Given the description of an element on the screen output the (x, y) to click on. 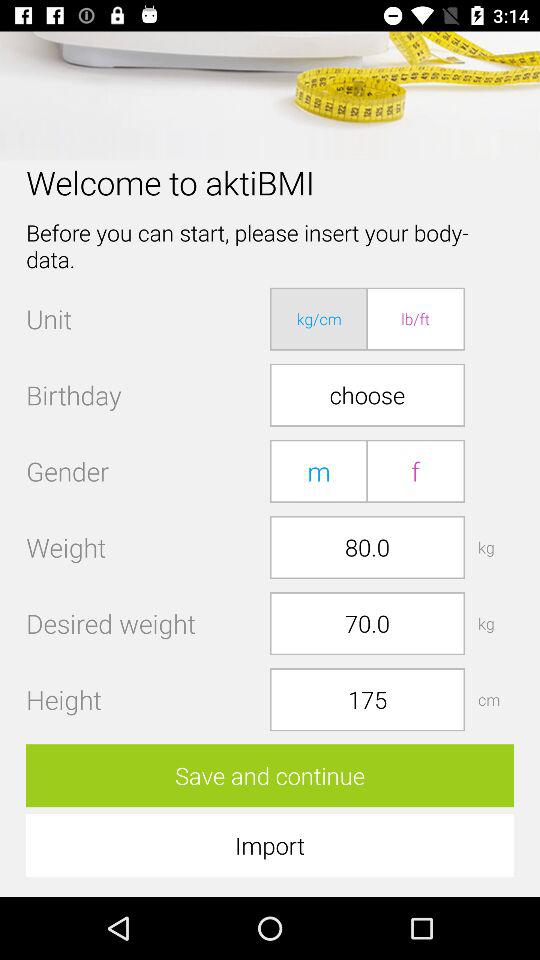
select item next to height app (367, 699)
